Given the description of an element on the screen output the (x, y) to click on. 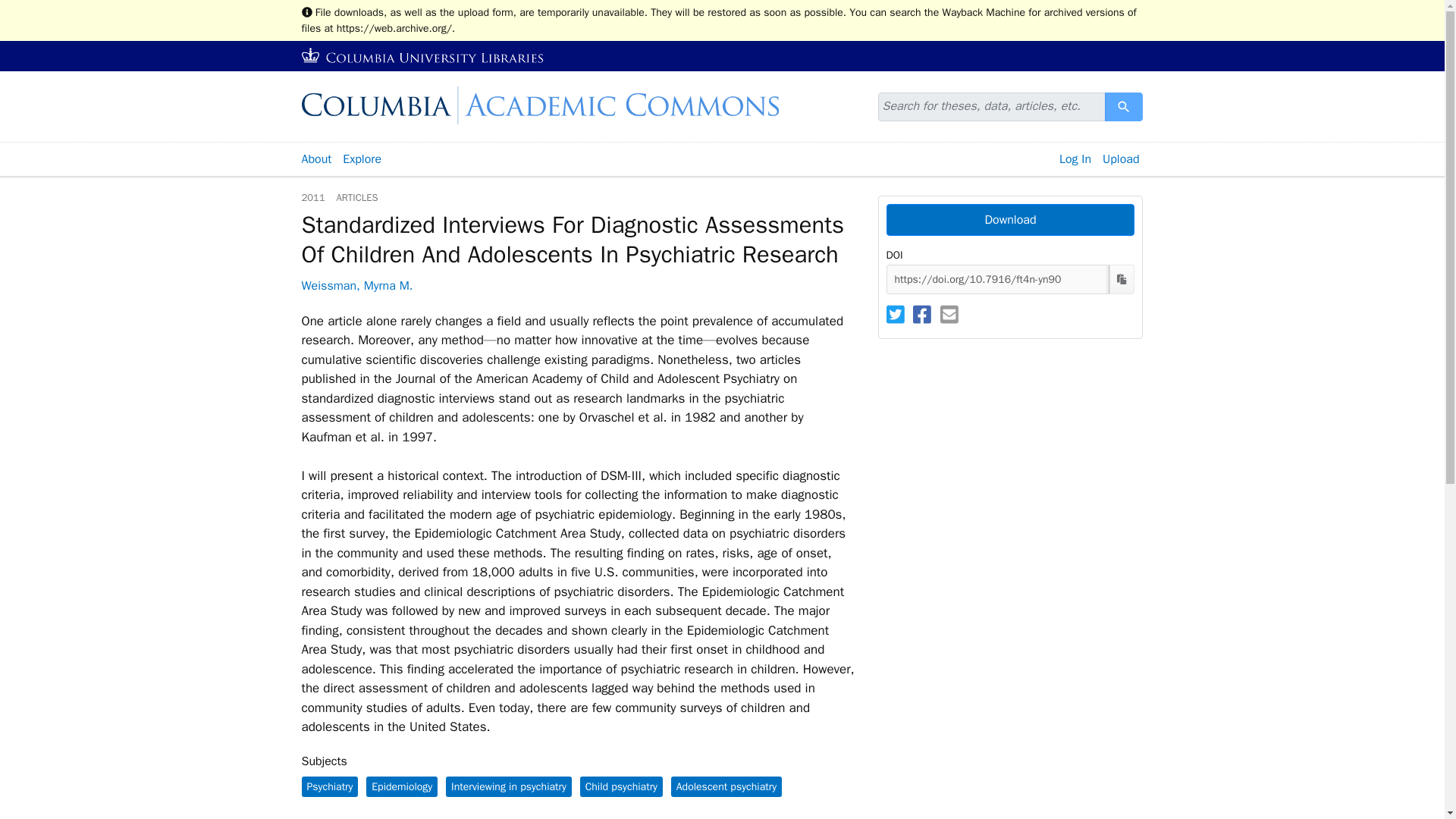
Download (1009, 219)
Explore (362, 159)
About (315, 159)
Adolescent psychiatry (726, 786)
Search (1123, 106)
Columbia University Libraries (422, 55)
Child psychiatry (620, 786)
Epidemiology (402, 786)
Upload (1120, 159)
